Given the description of an element on the screen output the (x, y) to click on. 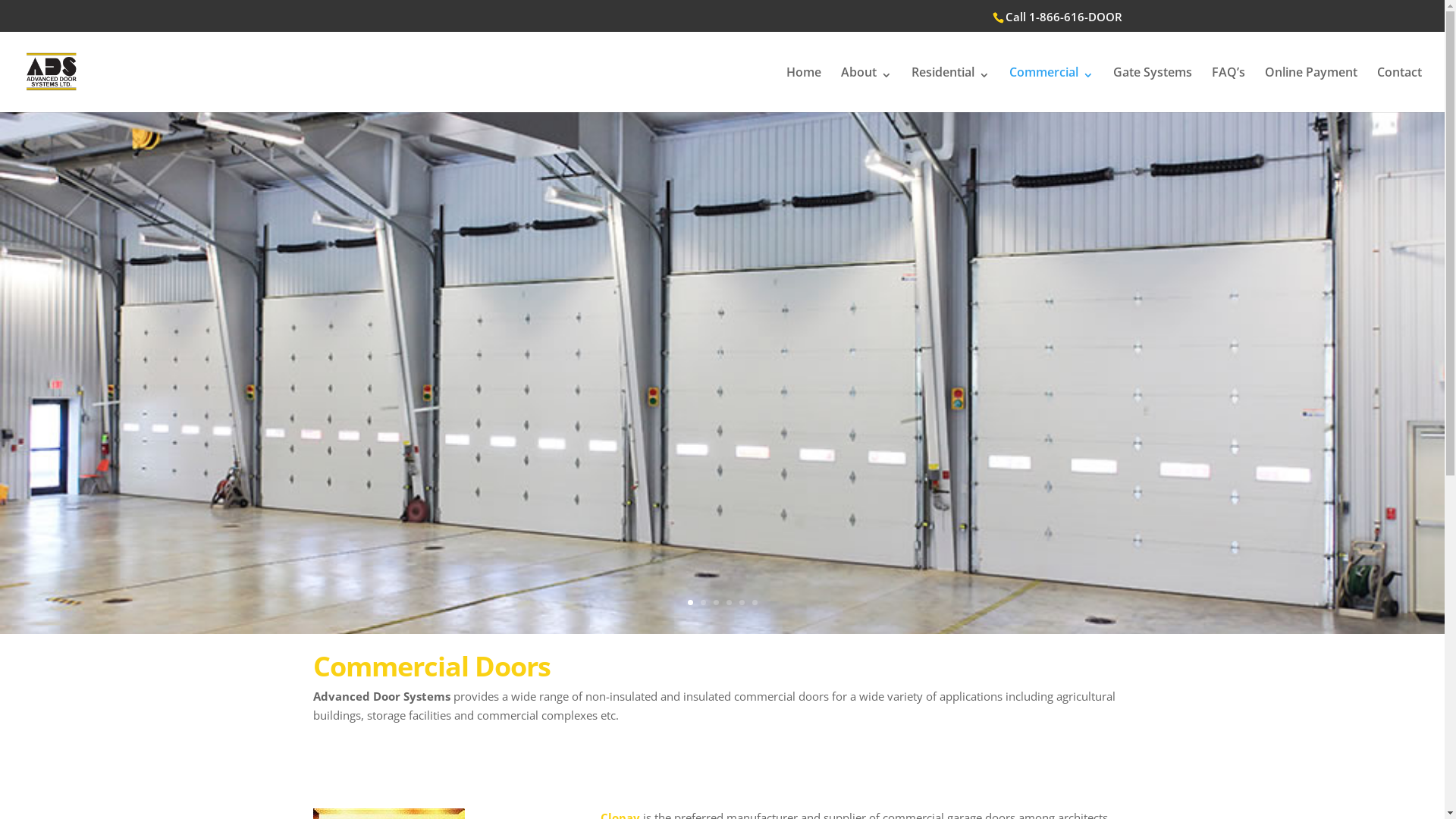
4 Element type: text (728, 602)
About Element type: text (865, 89)
Online Payment Element type: text (1310, 89)
6 Element type: text (754, 602)
1 Element type: text (689, 602)
2 Element type: text (703, 602)
3 Element type: text (715, 602)
Gate Systems Element type: text (1152, 89)
Residential Element type: text (950, 89)
Home Element type: text (803, 89)
Contact Element type: text (1399, 89)
Call 1-866-616-DOOR Element type: text (1063, 16)
Commercial Element type: text (1051, 89)
5 Element type: text (740, 602)
